Given the description of an element on the screen output the (x, y) to click on. 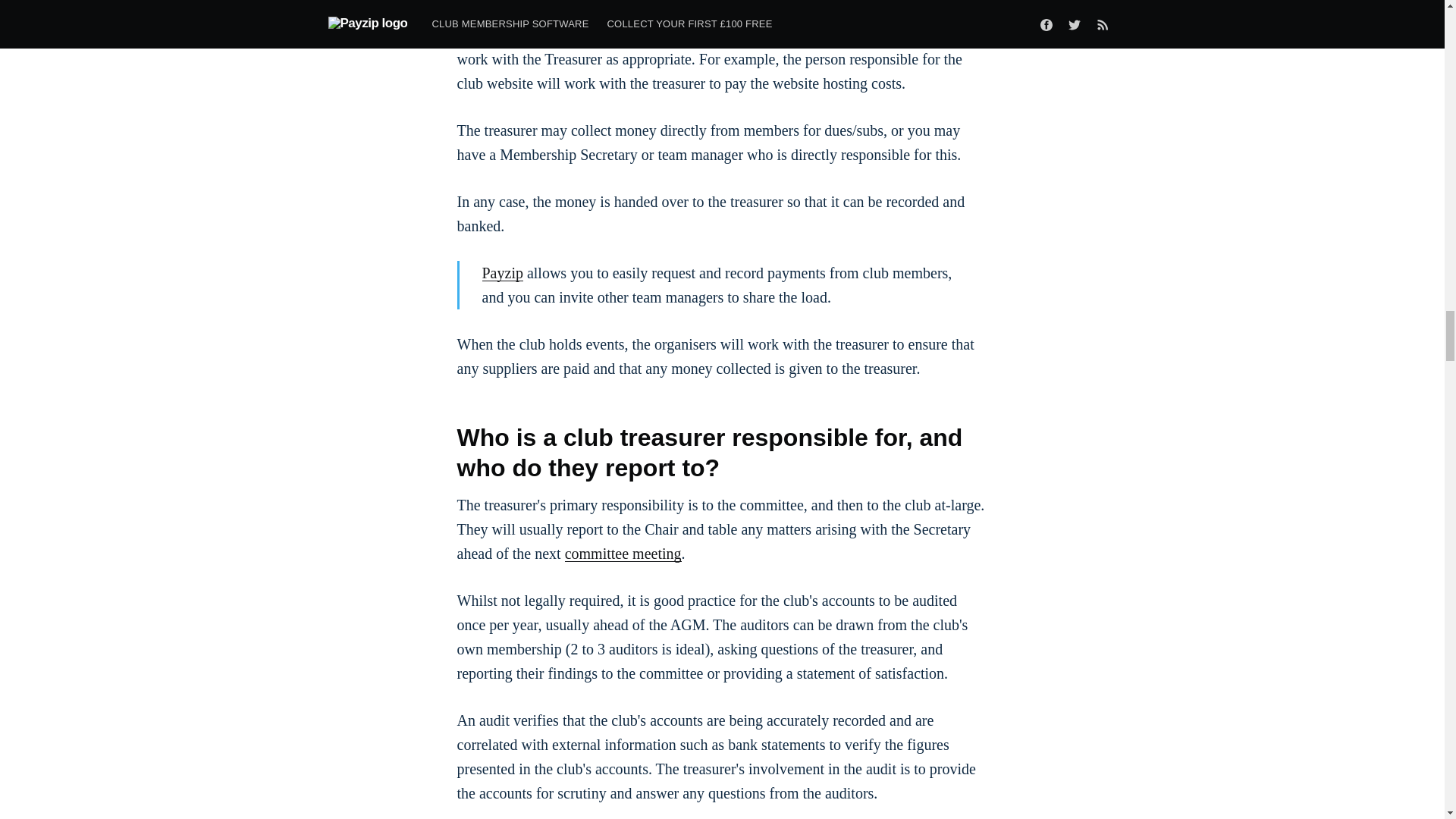
Payzip (501, 272)
committee meeting (622, 553)
